Given the description of an element on the screen output the (x, y) to click on. 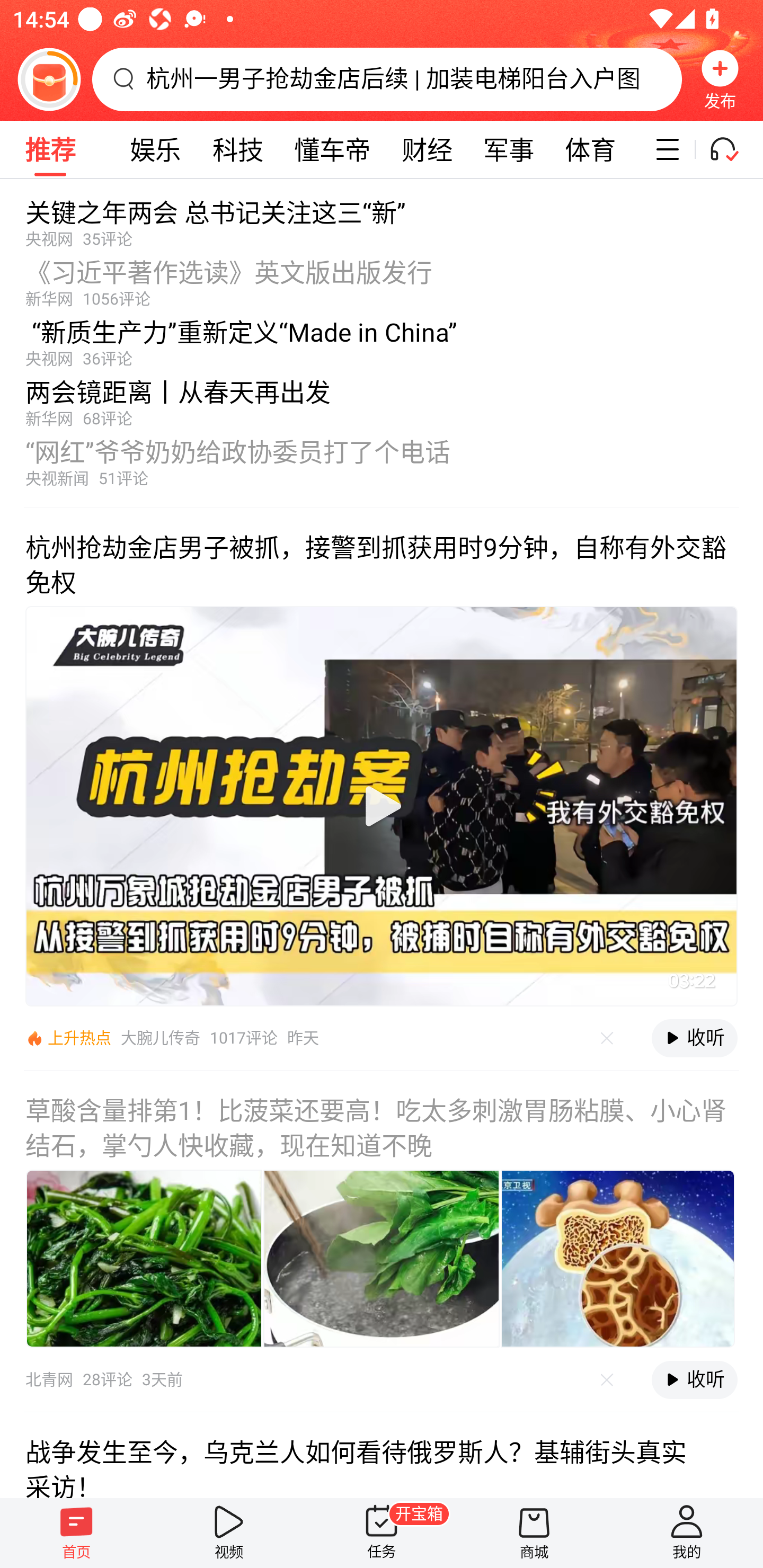
阅读赚金币 (48, 79)
发布 发布，按钮 (720, 78)
推荐 (49, 149)
娱乐 (155, 149)
科技 (237, 149)
懂车帝 (332, 149)
财经 (427, 149)
军事 (508, 149)
体育 (590, 149)
听一听开关 (732, 149)
两会镜距离丨从春天再出发新华网68评论 文章 两会镜距离丨从春天再出发 新华网68评论 (381, 398)
播放视频 视频播放器，双击屏幕打开播放控制 (381, 805)
播放视频 (381, 806)
收听 (694, 1037)
不感兴趣 (607, 1037)
内容图片 (143, 1258)
内容图片 (381, 1258)
内容图片 (617, 1258)
收听 (694, 1379)
不感兴趣 (607, 1379)
战争发生至今，乌克兰人如何看待俄罗斯人？基辅街头真实
采访！ (381, 1454)
首页 (76, 1532)
视频 (228, 1532)
任务 开宝箱 (381, 1532)
商城 (533, 1532)
我的 (686, 1532)
